Given the description of an element on the screen output the (x, y) to click on. 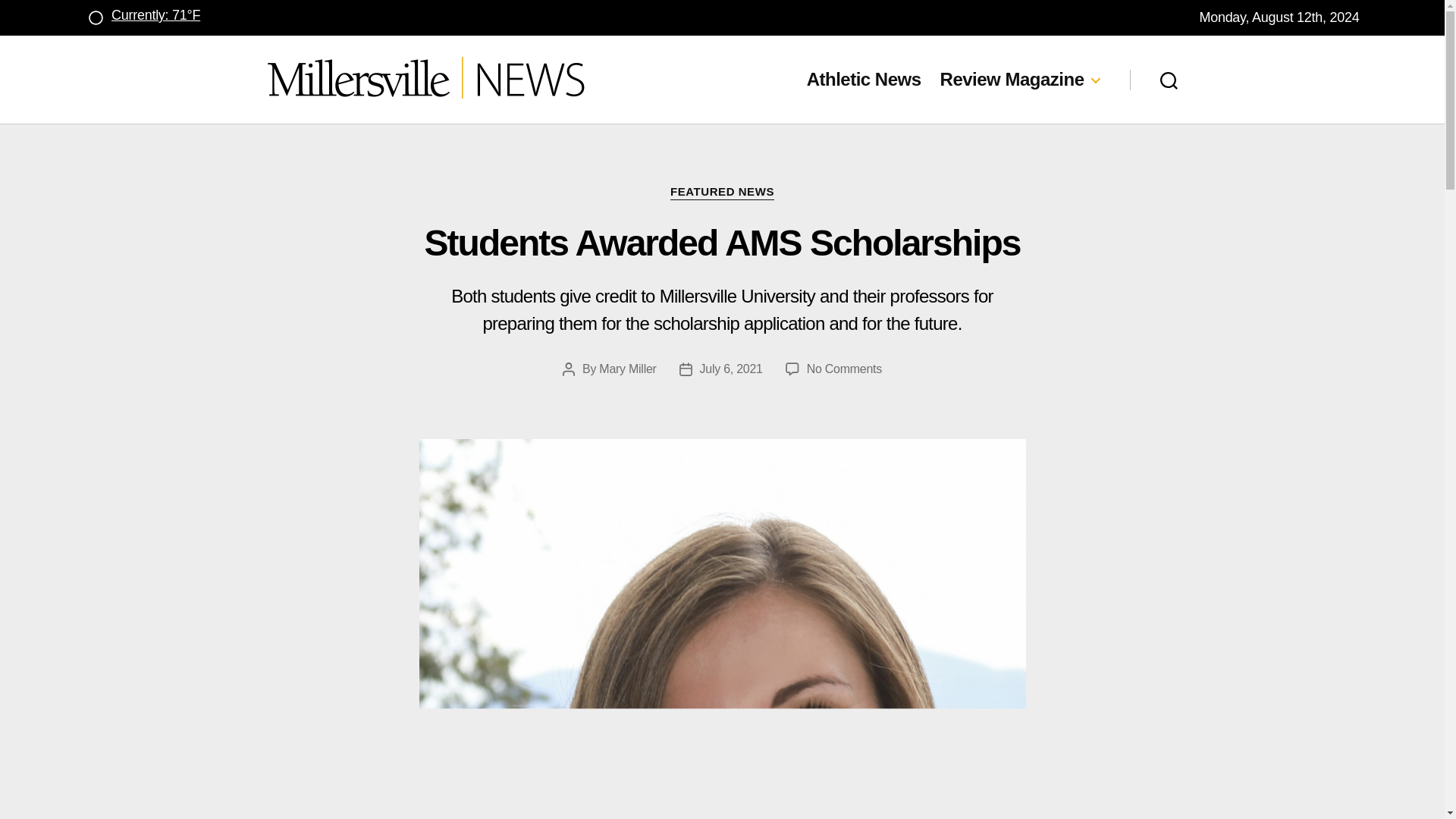
Fair (94, 17)
FEATURED NEWS (721, 192)
Athletic News (863, 79)
Review Magazine (1019, 79)
